Given the description of an element on the screen output the (x, y) to click on. 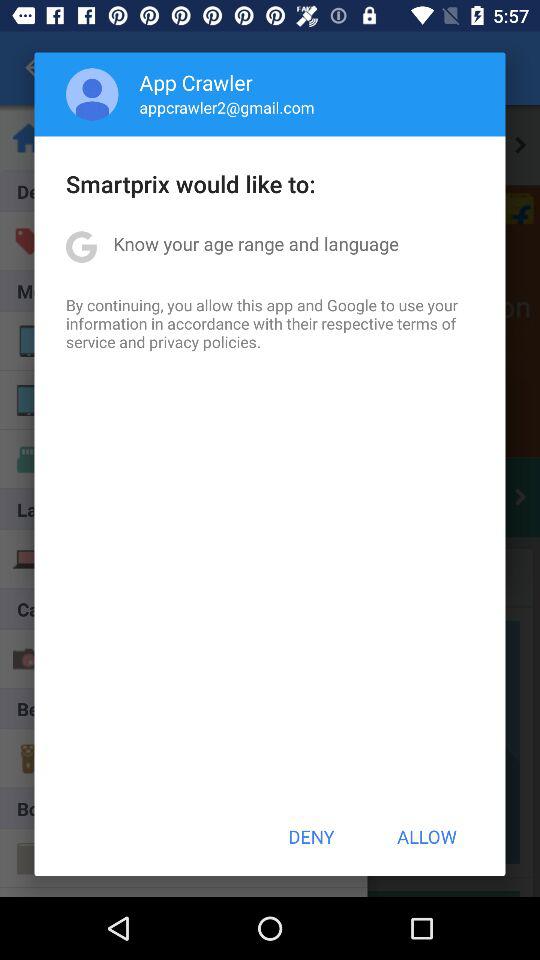
jump until the appcrawler2@gmail.com icon (226, 107)
